Given the description of an element on the screen output the (x, y) to click on. 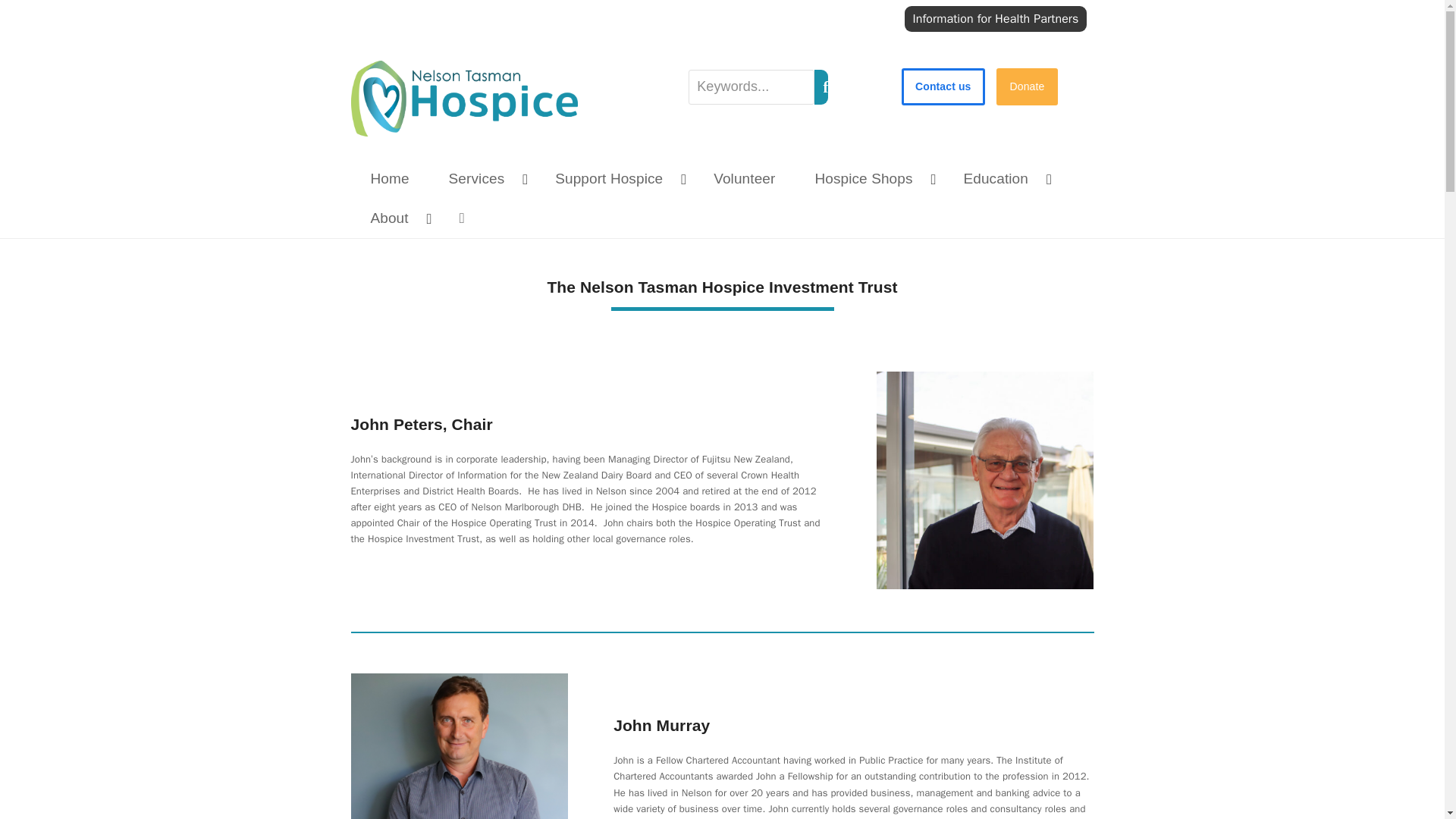
Education (1001, 178)
About (394, 218)
Contact us (943, 86)
Information for Health Partners (995, 18)
Volunteer (744, 178)
Home (389, 178)
Donate (1026, 86)
Support Hospice (614, 178)
John Peters 2024-2 (985, 479)
